Given the description of an element on the screen output the (x, y) to click on. 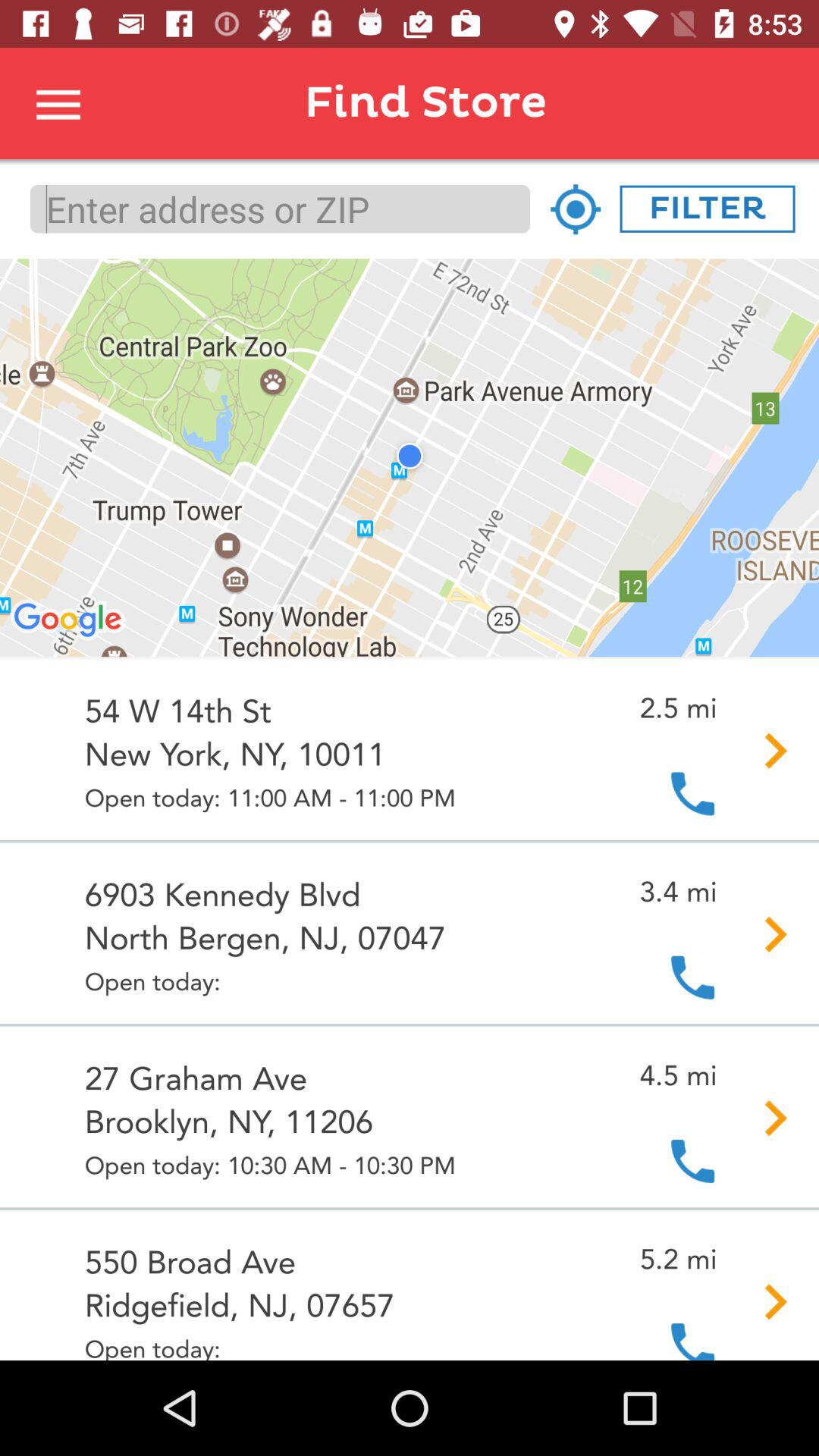
click on the second dialer icon at the right side of the page (692, 976)
click the place holder beside filter (575, 208)
click on filter on the top right corner (707, 209)
select the text next to menu icon (456, 104)
click on third call symbol from top (692, 1160)
click the move forward button below 34 mi (765, 934)
